Given the description of an element on the screen output the (x, y) to click on. 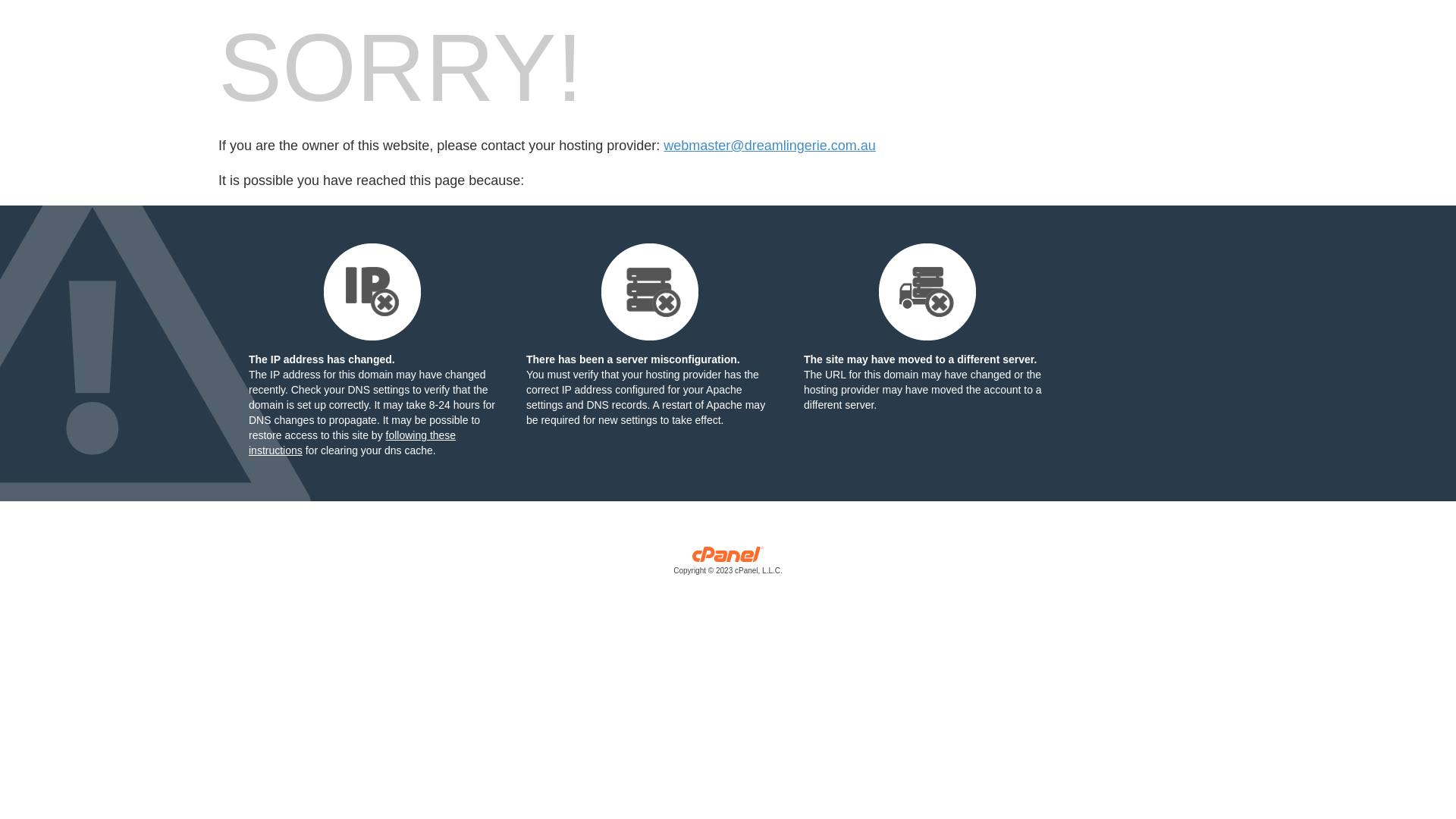
following these instructions Element type: text (351, 442)
webmaster@dreamlingerie.com.au Element type: text (769, 145)
